Given the description of an element on the screen output the (x, y) to click on. 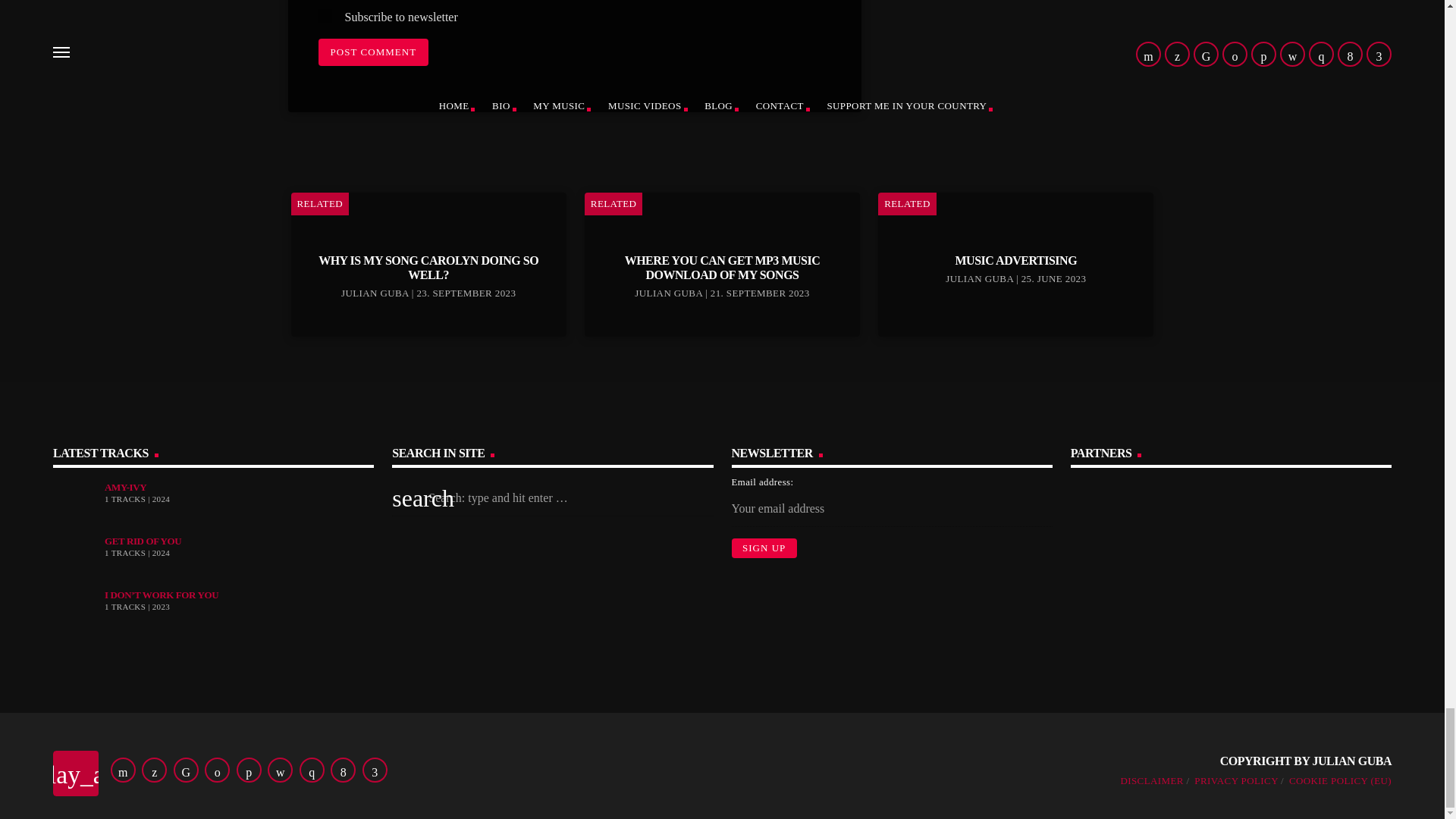
Sign up (763, 547)
Julian Guba singer songwriter and producer (1315, 529)
Post Comment (373, 52)
